Given the description of an element on the screen output the (x, y) to click on. 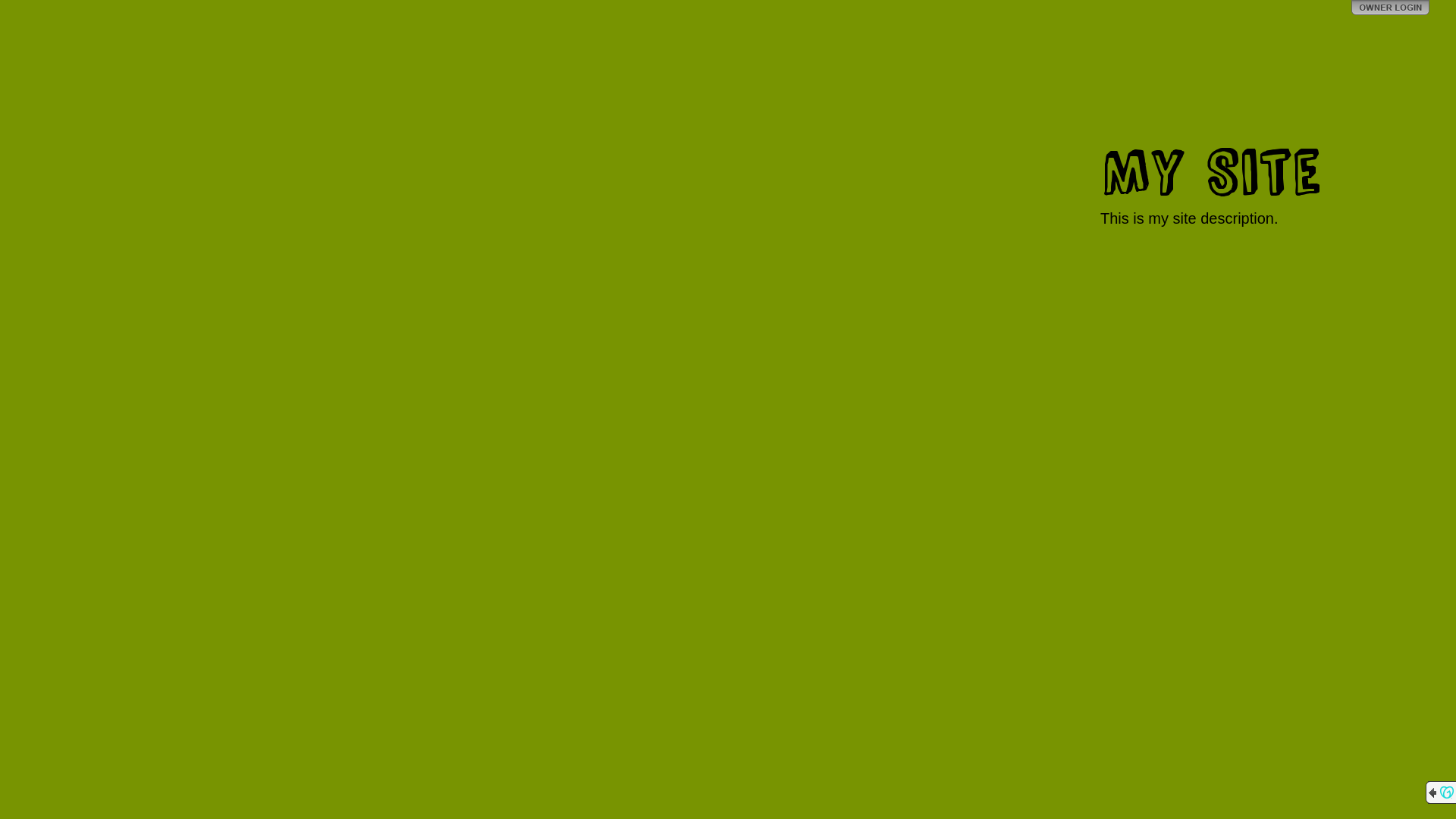
Facebook Element type: text (1326, 29)
StumbleUpon Element type: text (1423, 29)
MySpace Element type: text (1375, 29)
Del.icio.us Element type: text (1399, 29)
Twitter Element type: text (1350, 29)
